Given the description of an element on the screen output the (x, y) to click on. 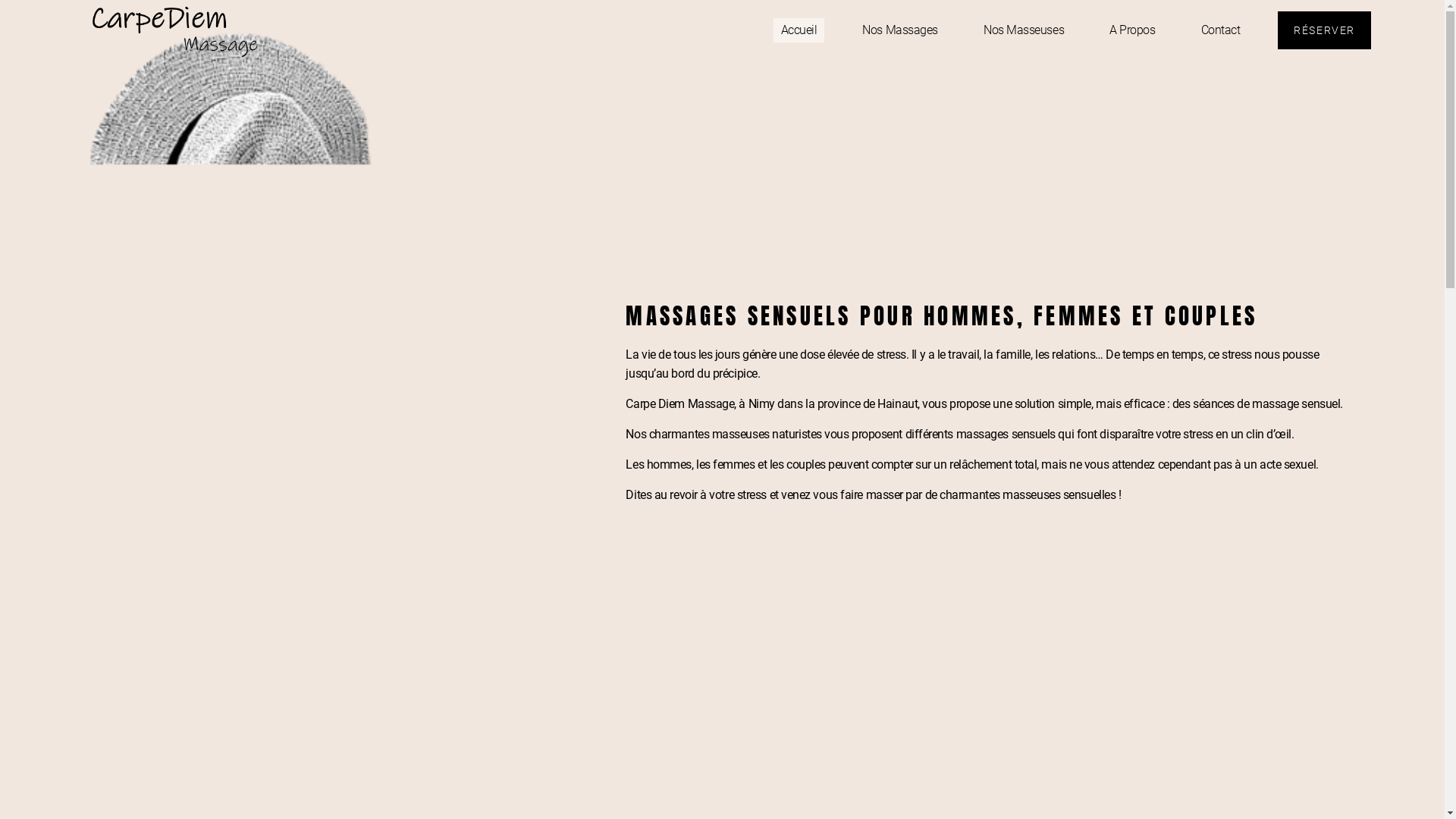
Nos Masseuses Element type: text (1023, 30)
Nos Massages Element type: text (899, 30)
Contact Element type: text (1220, 30)
Accueil Element type: text (799, 30)
A Propos Element type: text (1131, 30)
